Given the description of an element on the screen output the (x, y) to click on. 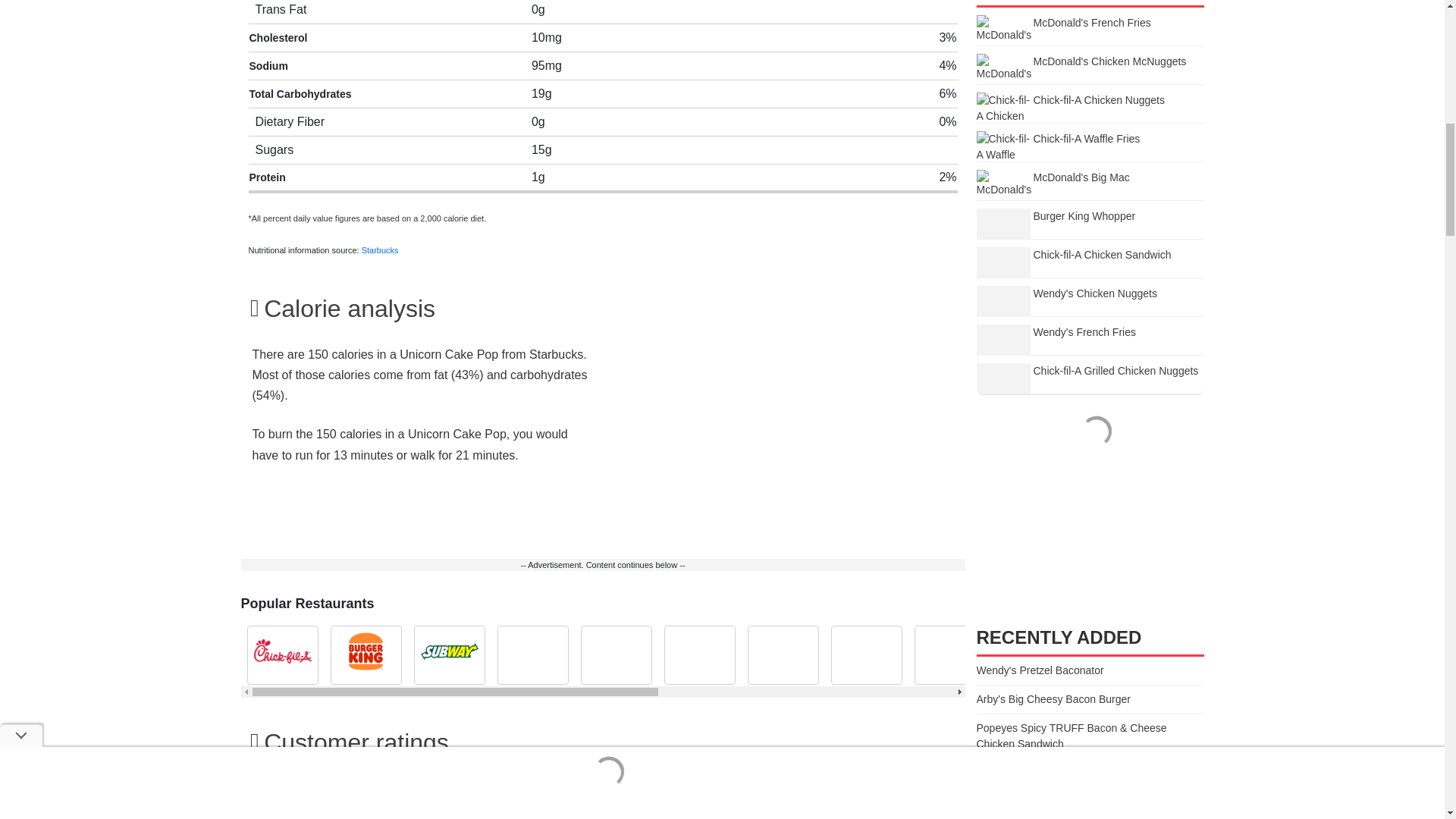
Cholesterol (277, 37)
Sodium (267, 65)
Trans Fat (279, 9)
